Given the description of an element on the screen output the (x, y) to click on. 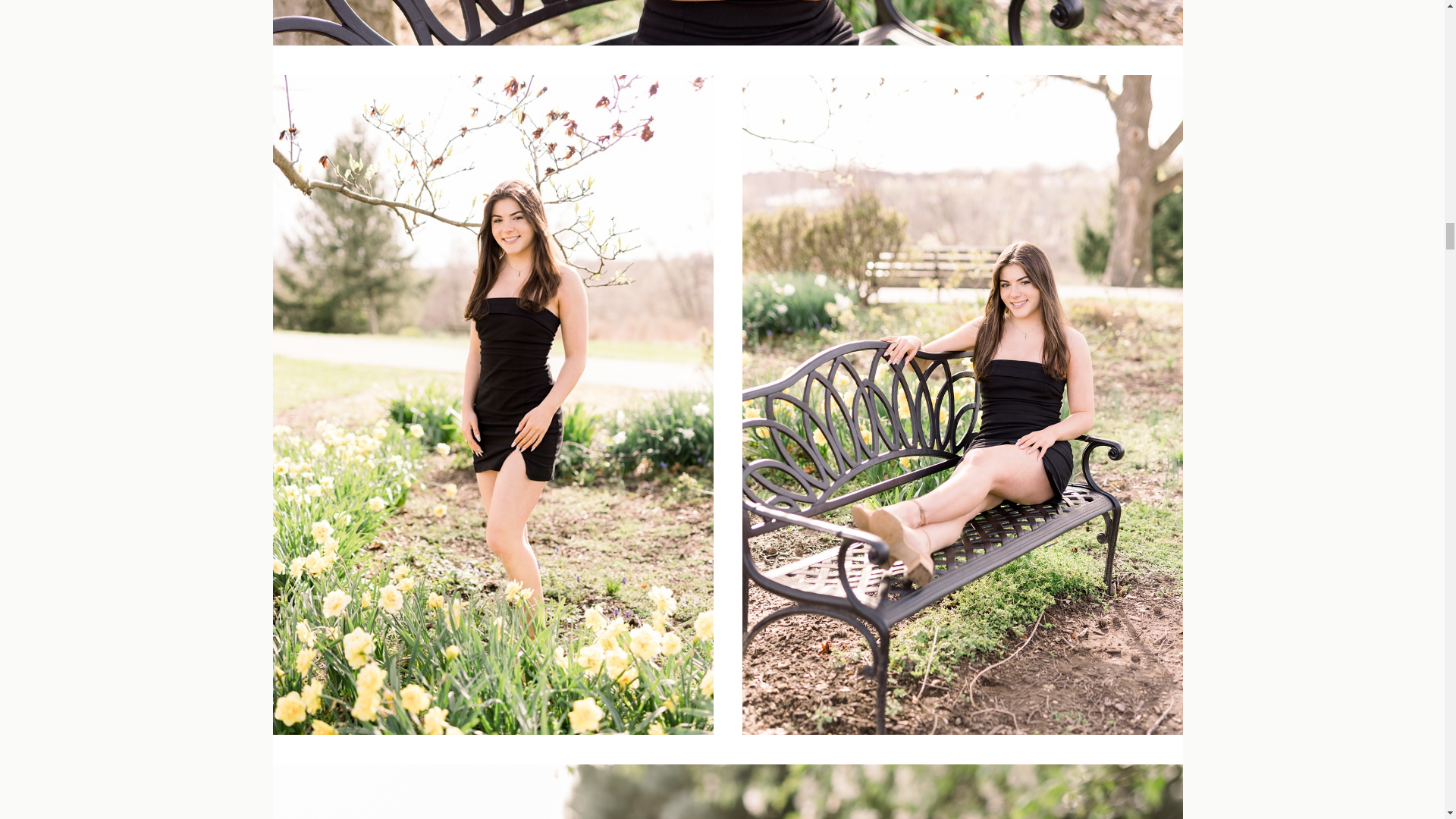
Nashville Senior Photography (727, 22)
Nashville Senior Photography (727, 791)
